Given the description of an element on the screen output the (x, y) to click on. 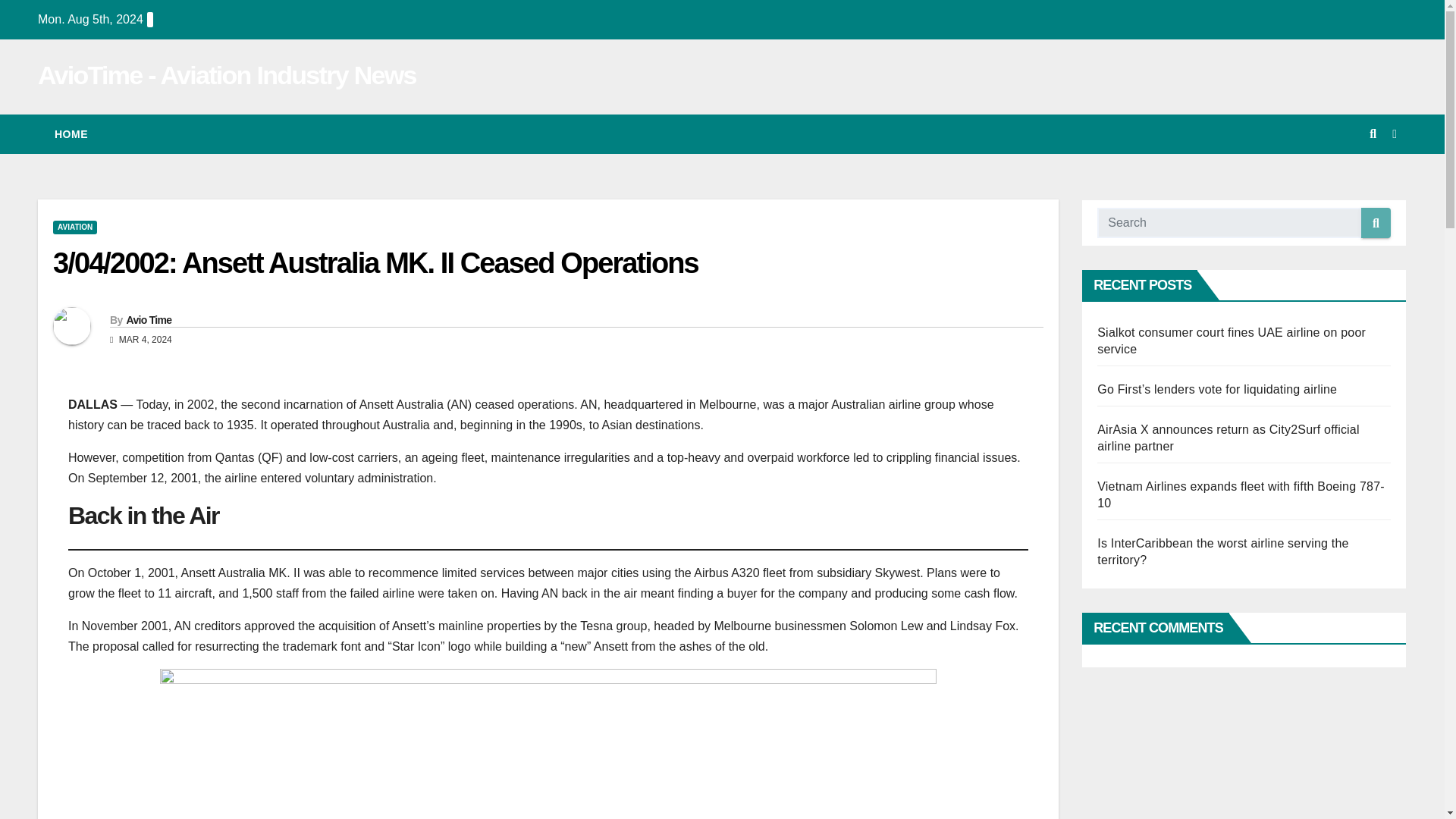
HOME (70, 133)
AVIATION (74, 227)
Home (70, 133)
Avio Time (148, 319)
AvioTime - Aviation Industry News (226, 74)
